Given the description of an element on the screen output the (x, y) to click on. 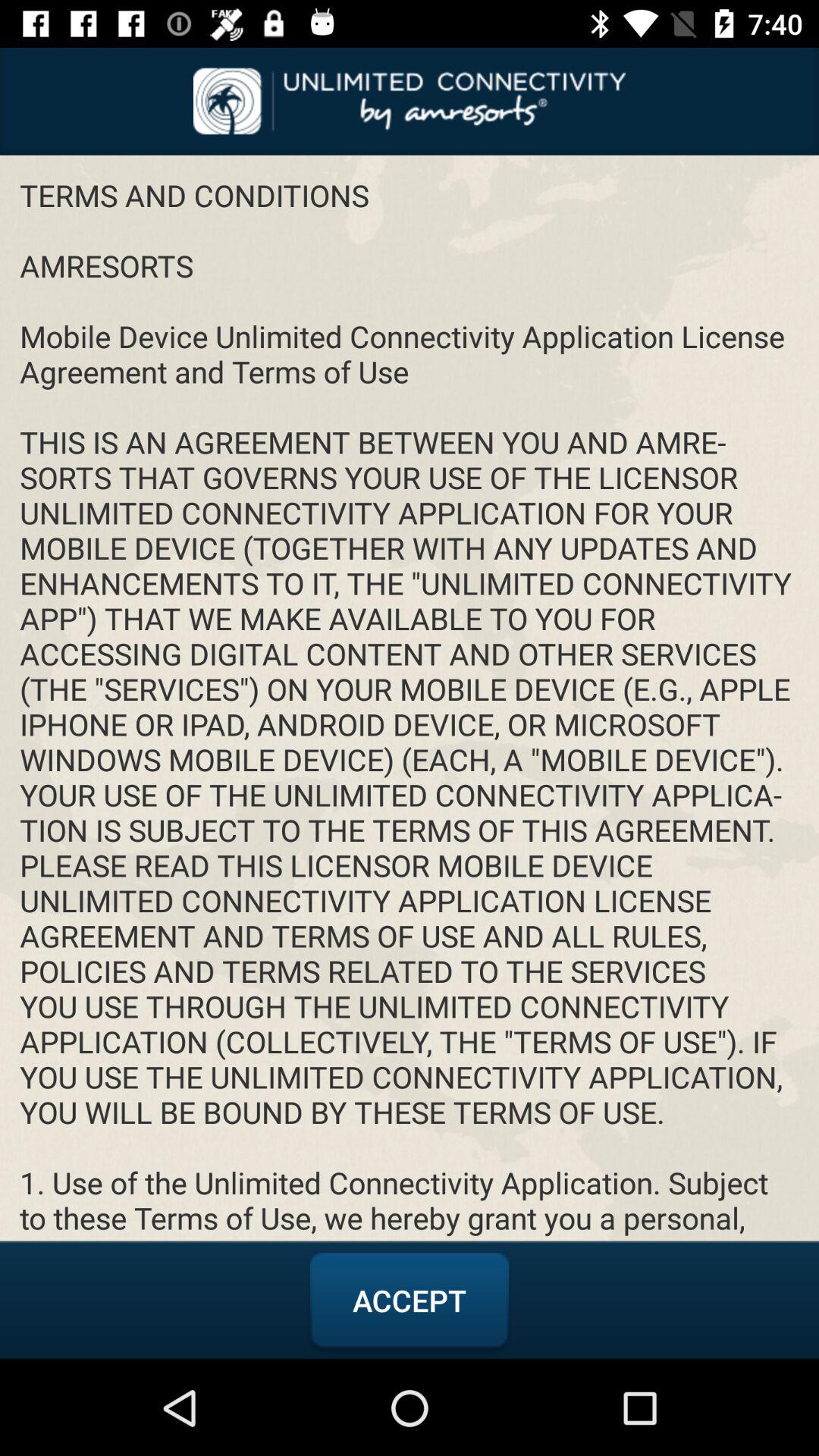
turn on the item below the terms and conditions item (409, 1300)
